Given the description of an element on the screen output the (x, y) to click on. 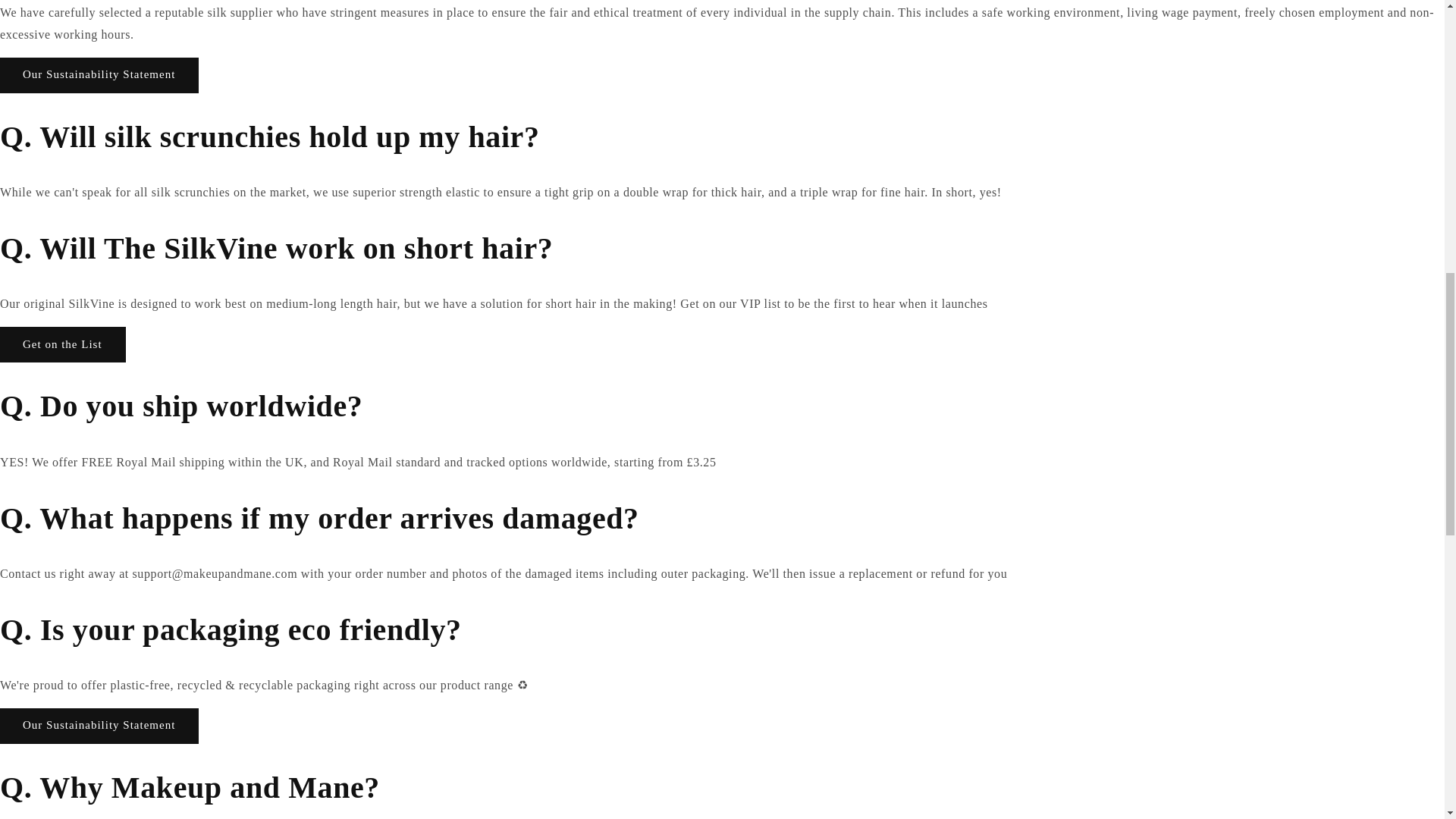
Our Sustainability Statement (99, 75)
Our Sustainability Statement (99, 725)
Get on the List (62, 344)
